Given the description of an element on the screen output the (x, y) to click on. 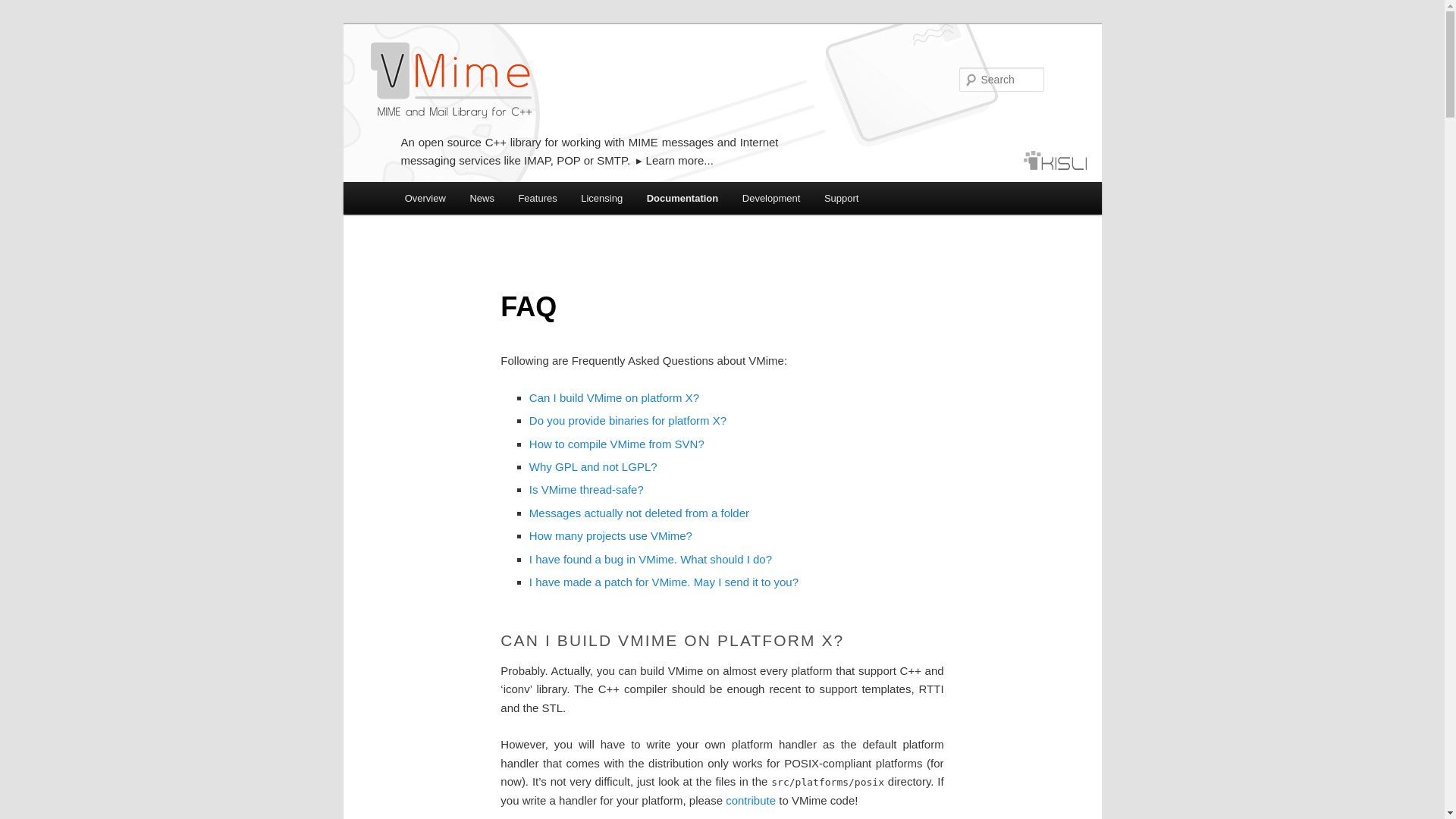
Kisli Development (1054, 159)
How to compile VMime from SVN? (616, 443)
Overview (425, 197)
Documentation (682, 197)
Do you provide binaries for platform X? (627, 420)
Skip to secondary content (479, 200)
Features (537, 197)
Search (24, 8)
How many projects use VMime? (611, 535)
I have made a patch for VMime. May I send it to you? (663, 581)
